Given the description of an element on the screen output the (x, y) to click on. 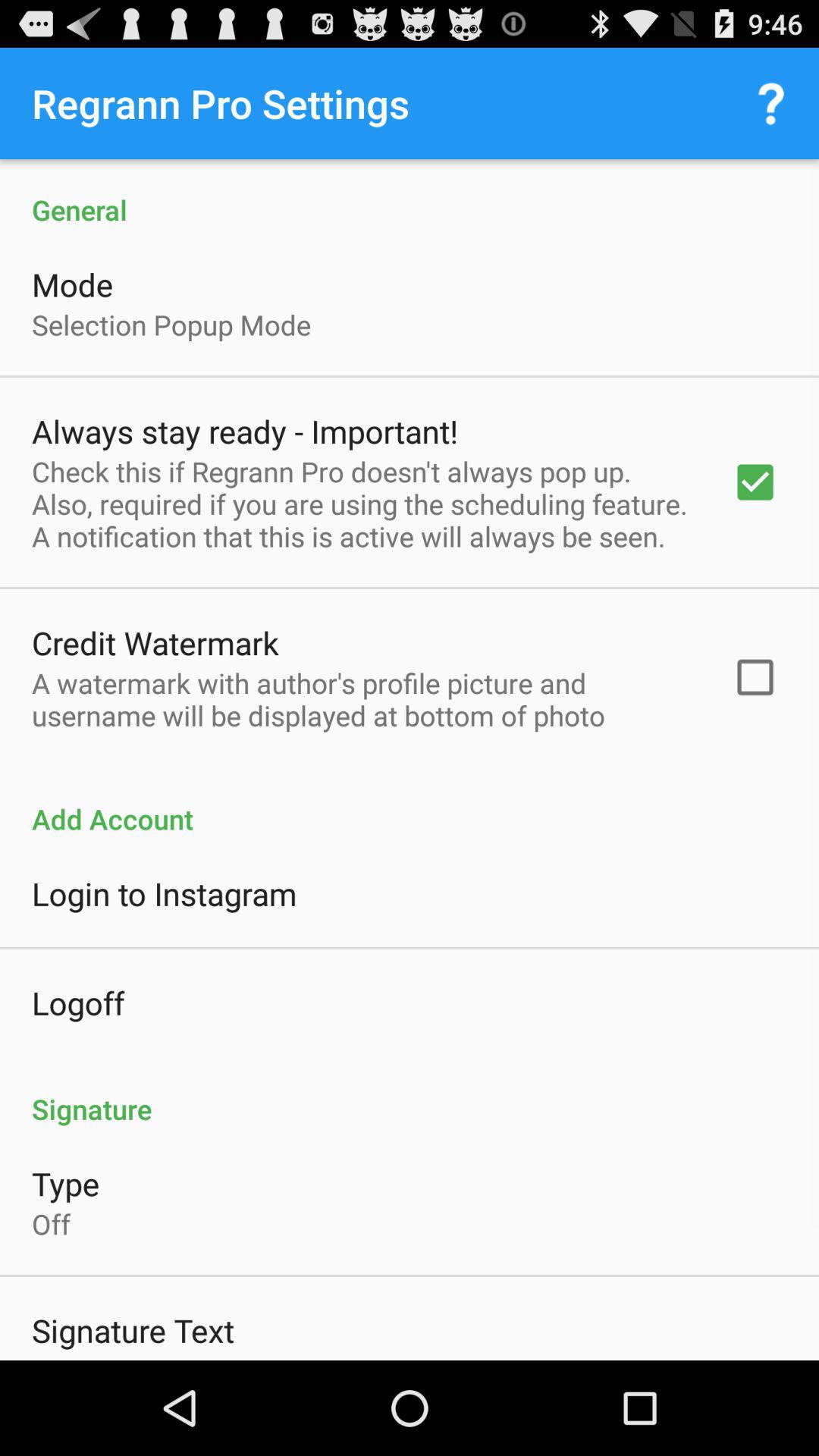
turn off icon above the off icon (65, 1183)
